Given the description of an element on the screen output the (x, y) to click on. 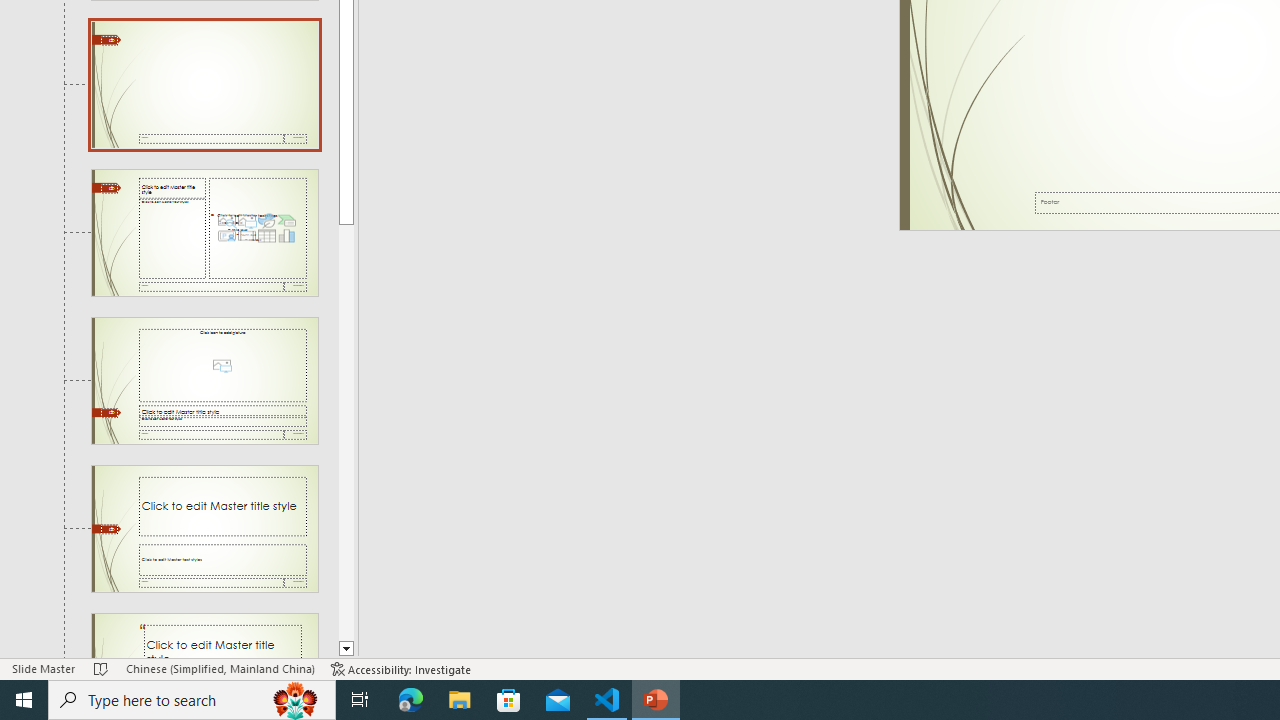
Slide Picture with Caption Layout: used by no slides (204, 381)
Slide Blank Layout: used by no slides (204, 85)
Slide Quote with Caption Layout: used by no slides (204, 636)
Slide Title and Caption Layout: used by no slides (204, 528)
Slide Content with Caption Layout: used by no slides (204, 232)
